Given the description of an element on the screen output the (x, y) to click on. 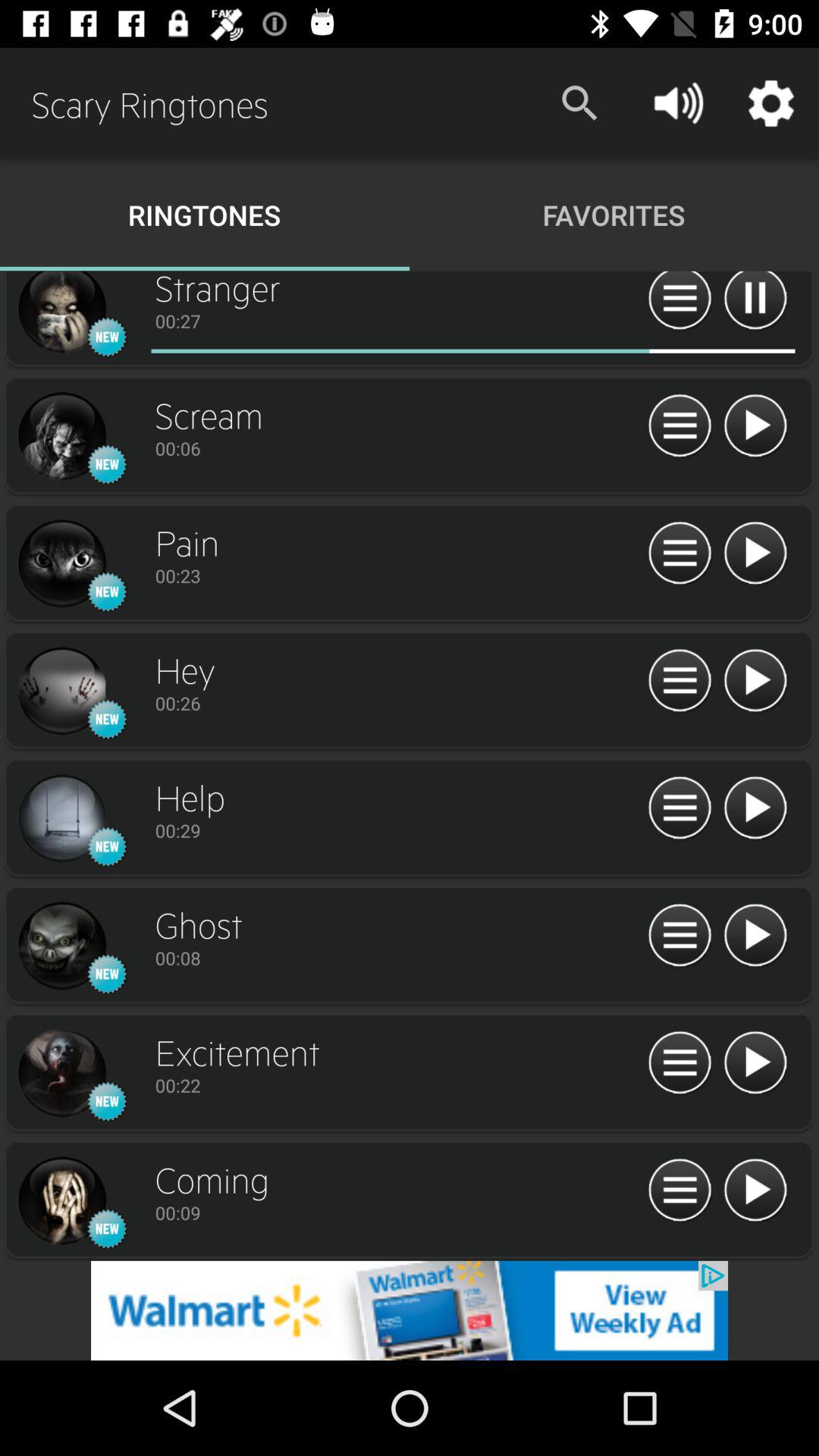
switch ti details option (679, 935)
